Given the description of an element on the screen output the (x, y) to click on. 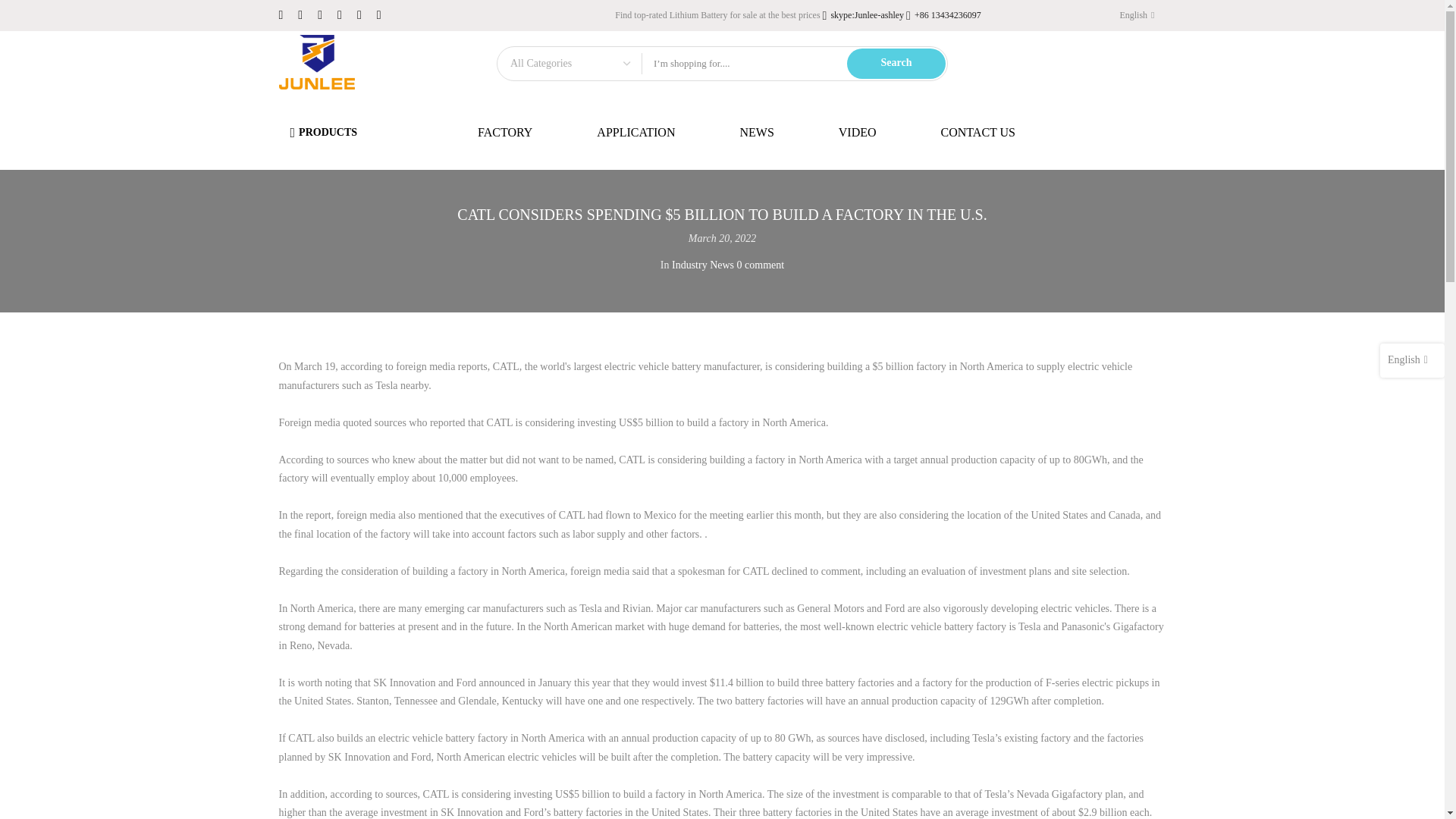
0 comment (760, 265)
APPLICATION (635, 132)
CONTACT US (977, 132)
FACTORY (504, 132)
Search (895, 63)
Industry News (702, 265)
skype:Junlee-ashley (863, 14)
